Given the description of an element on the screen output the (x, y) to click on. 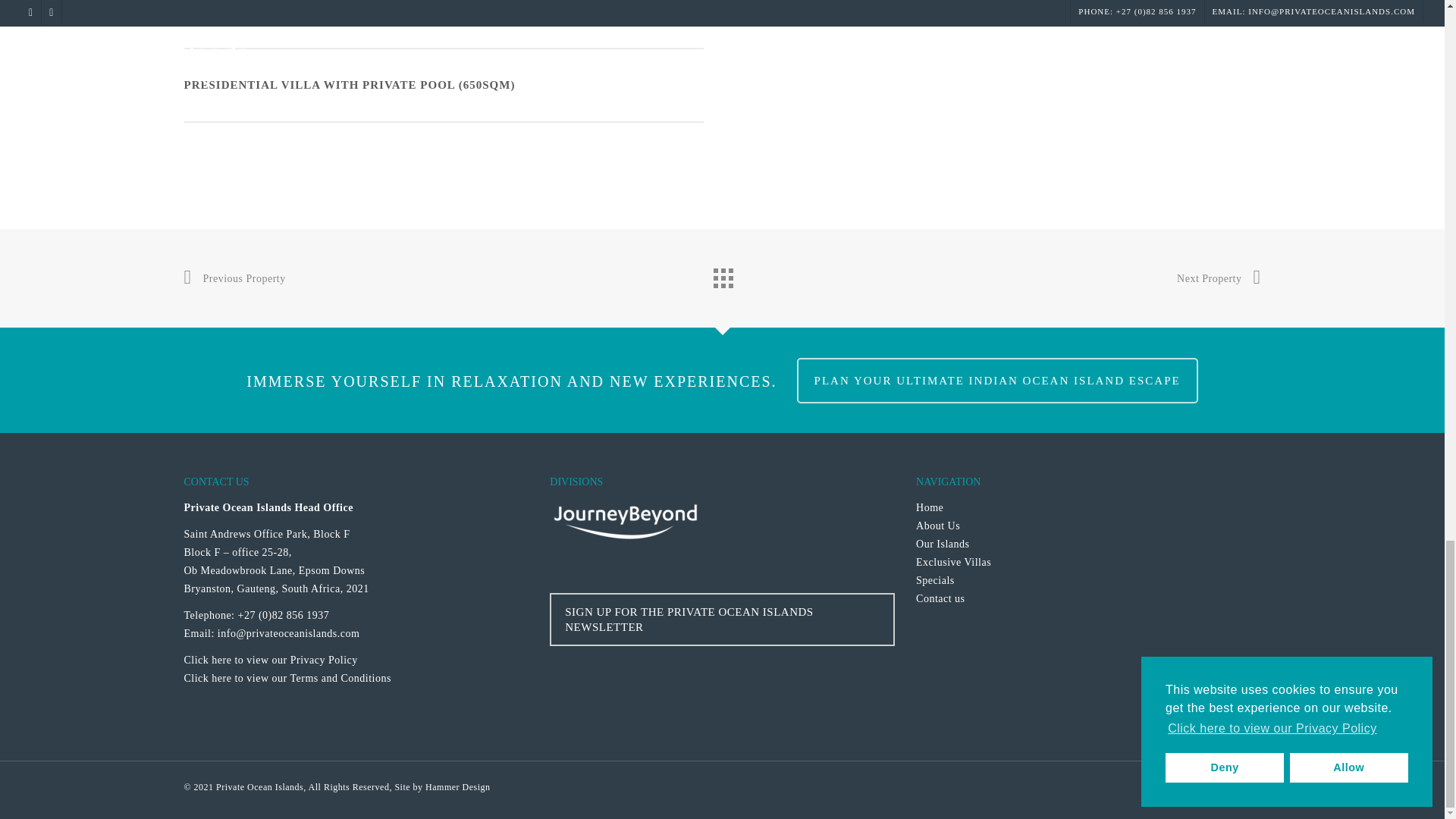
Next Property (1218, 278)
Back to all projects (721, 274)
Previous Property (234, 278)
